Given the description of an element on the screen output the (x, y) to click on. 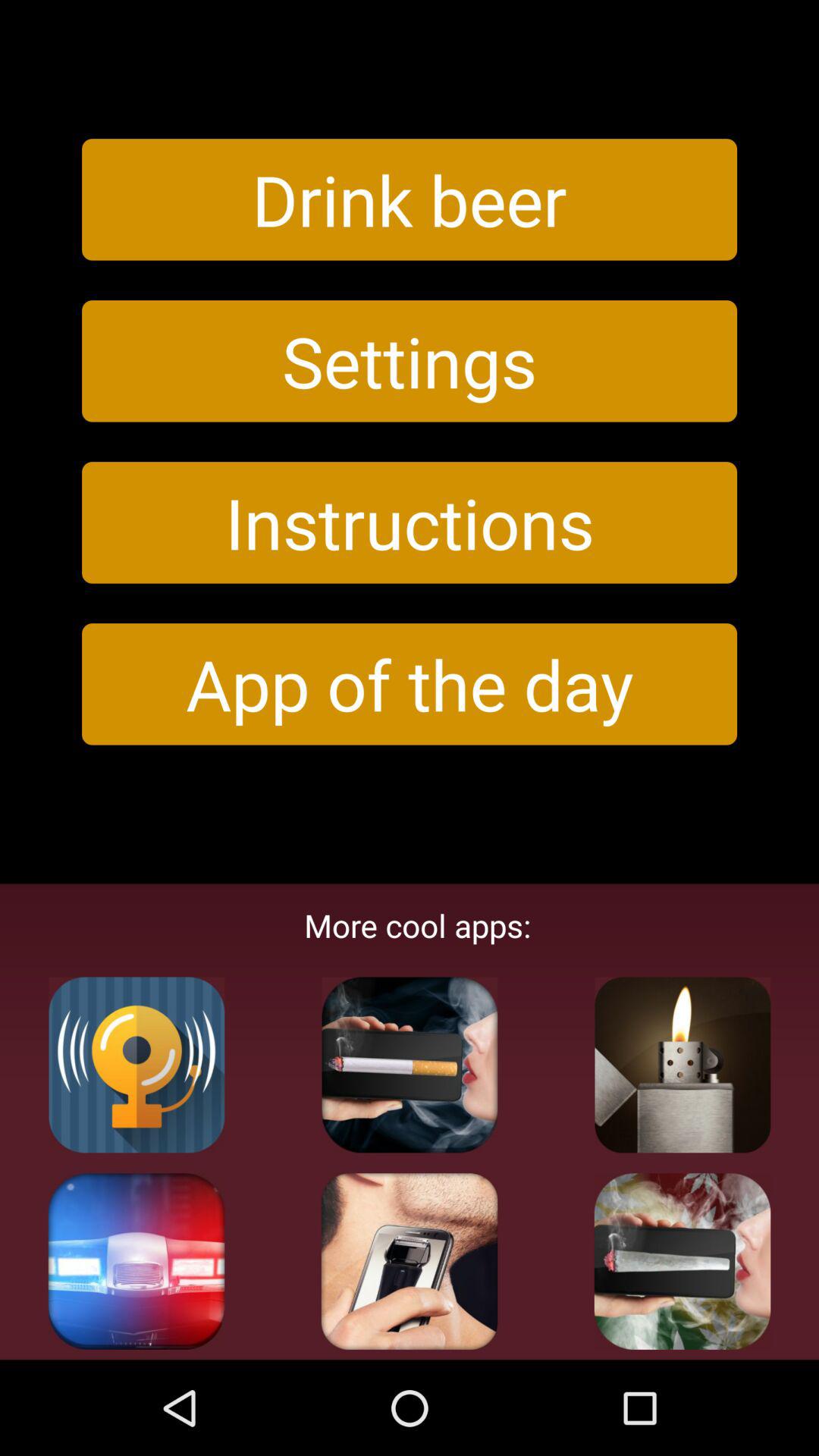
swipe to the instructions item (409, 522)
